Given the description of an element on the screen output the (x, y) to click on. 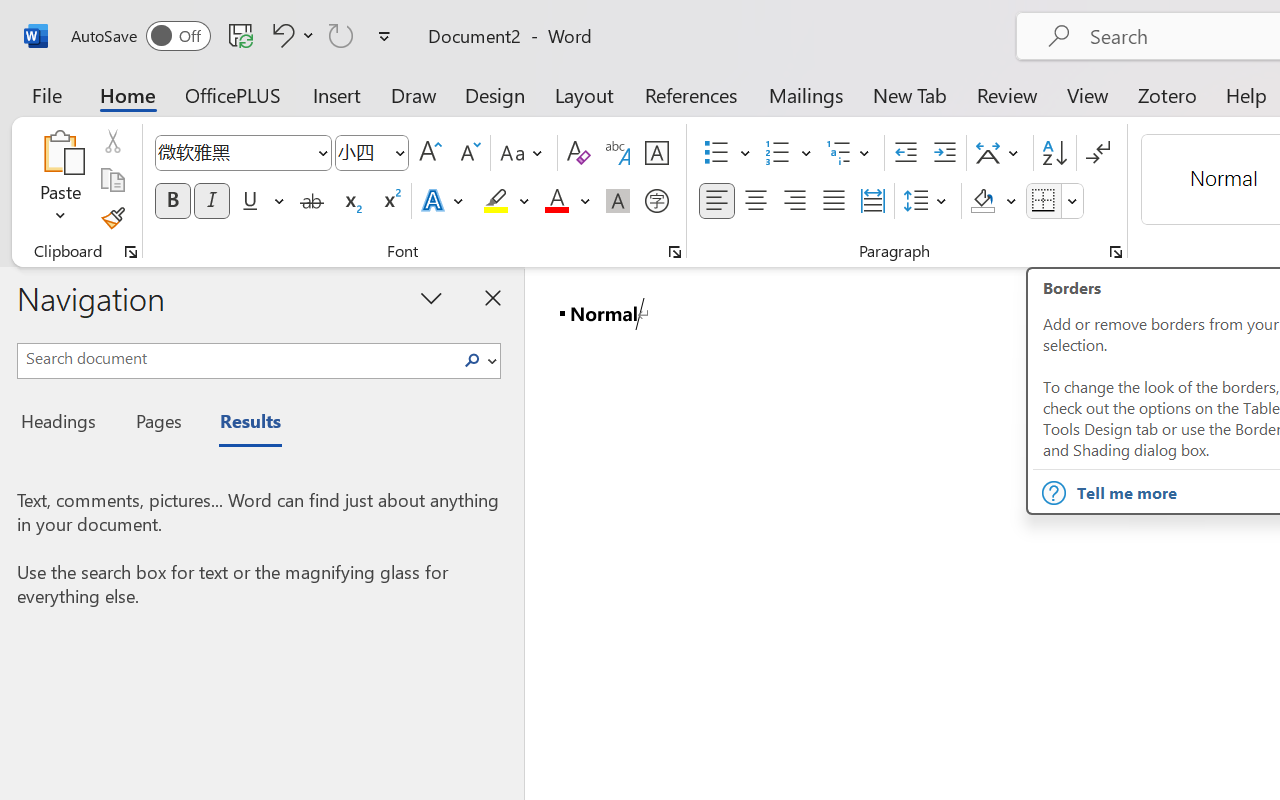
Customize Quick Access Toolbar (384, 35)
New Tab (909, 94)
Change Case (524, 153)
Font Color (567, 201)
References (690, 94)
Line and Paragraph Spacing (927, 201)
Font Size (372, 153)
Shrink Font (468, 153)
Text Highlight Color (506, 201)
Zotero (1166, 94)
Mailings (806, 94)
Decrease Indent (906, 153)
Asian Layout (1000, 153)
